Given the description of an element on the screen output the (x, y) to click on. 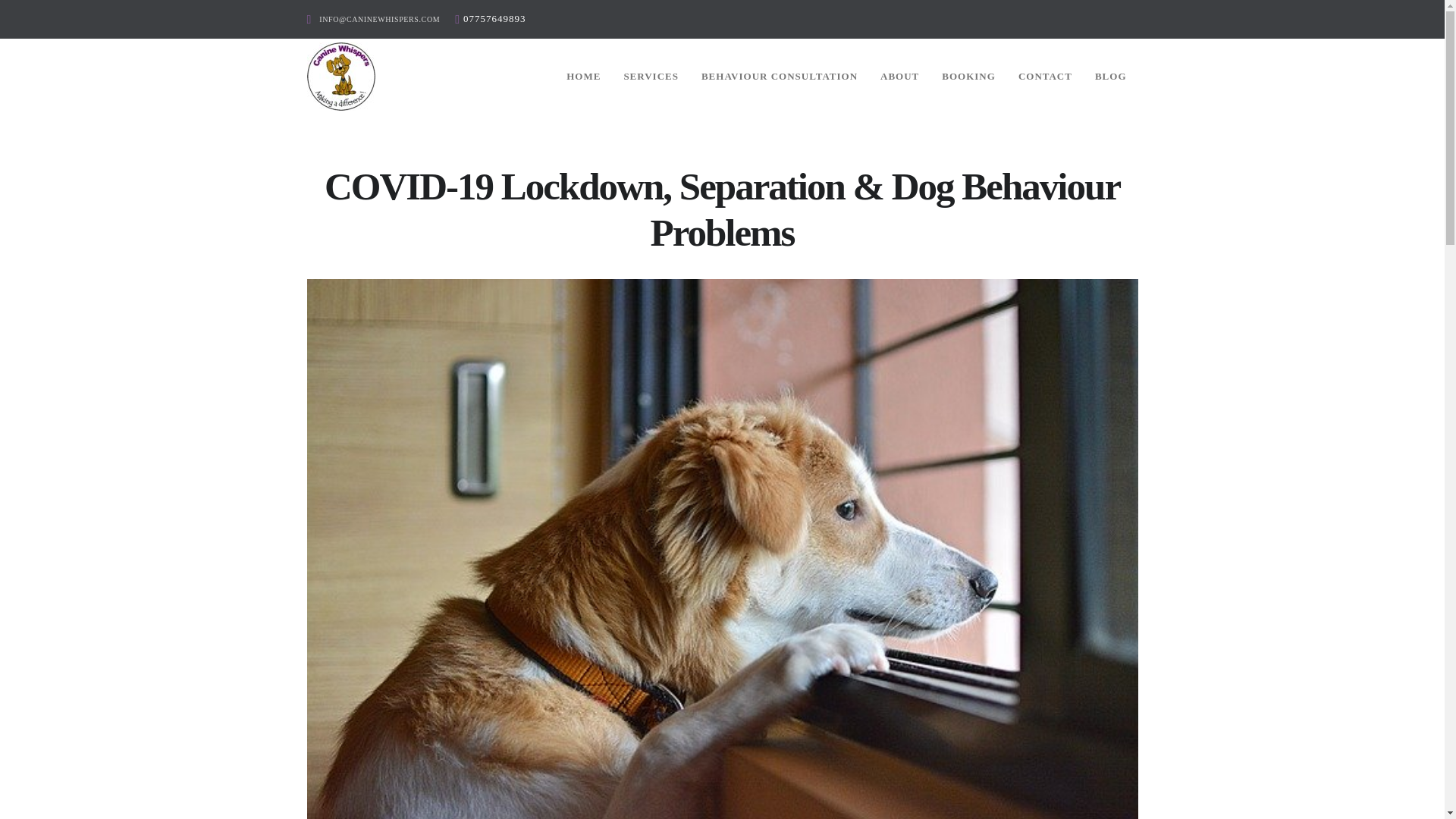
CONTACT (1045, 76)
BOOKING (968, 76)
SERVICES (650, 76)
BEHAVIOUR CONSULTATION (779, 76)
